Given the description of an element on the screen output the (x, y) to click on. 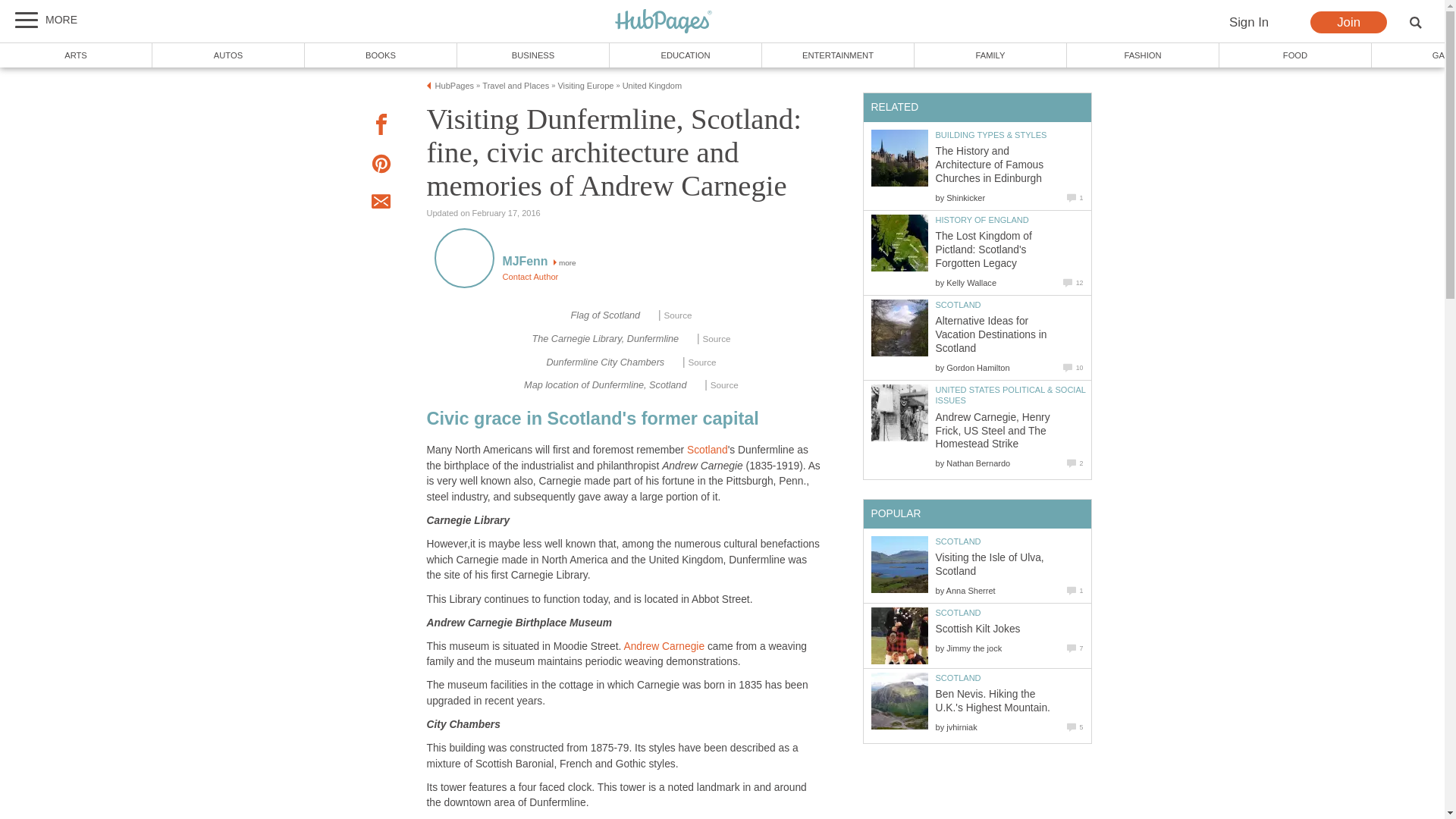
Visiting Europe (584, 85)
MJFenn more (538, 262)
HubPages (663, 22)
Join (1348, 22)
Contact Author (529, 276)
FASHION (1143, 55)
BUSINESS (533, 55)
Alternative Ideas for Vacation Destinations in Scotland (898, 327)
HubPages (454, 85)
AUTOS (228, 55)
